Given the description of an element on the screen output the (x, y) to click on. 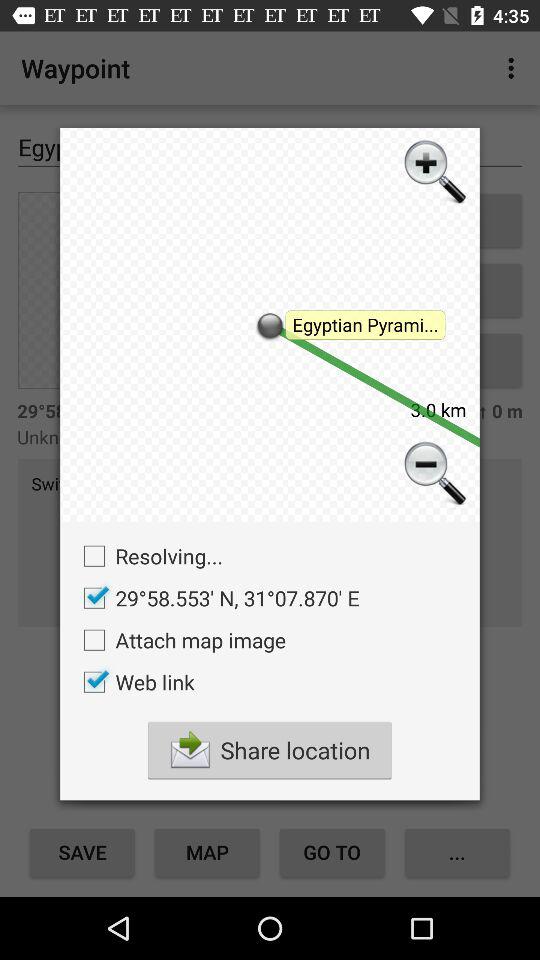
select the share location at the bottom (269, 750)
